Given the description of an element on the screen output the (x, y) to click on. 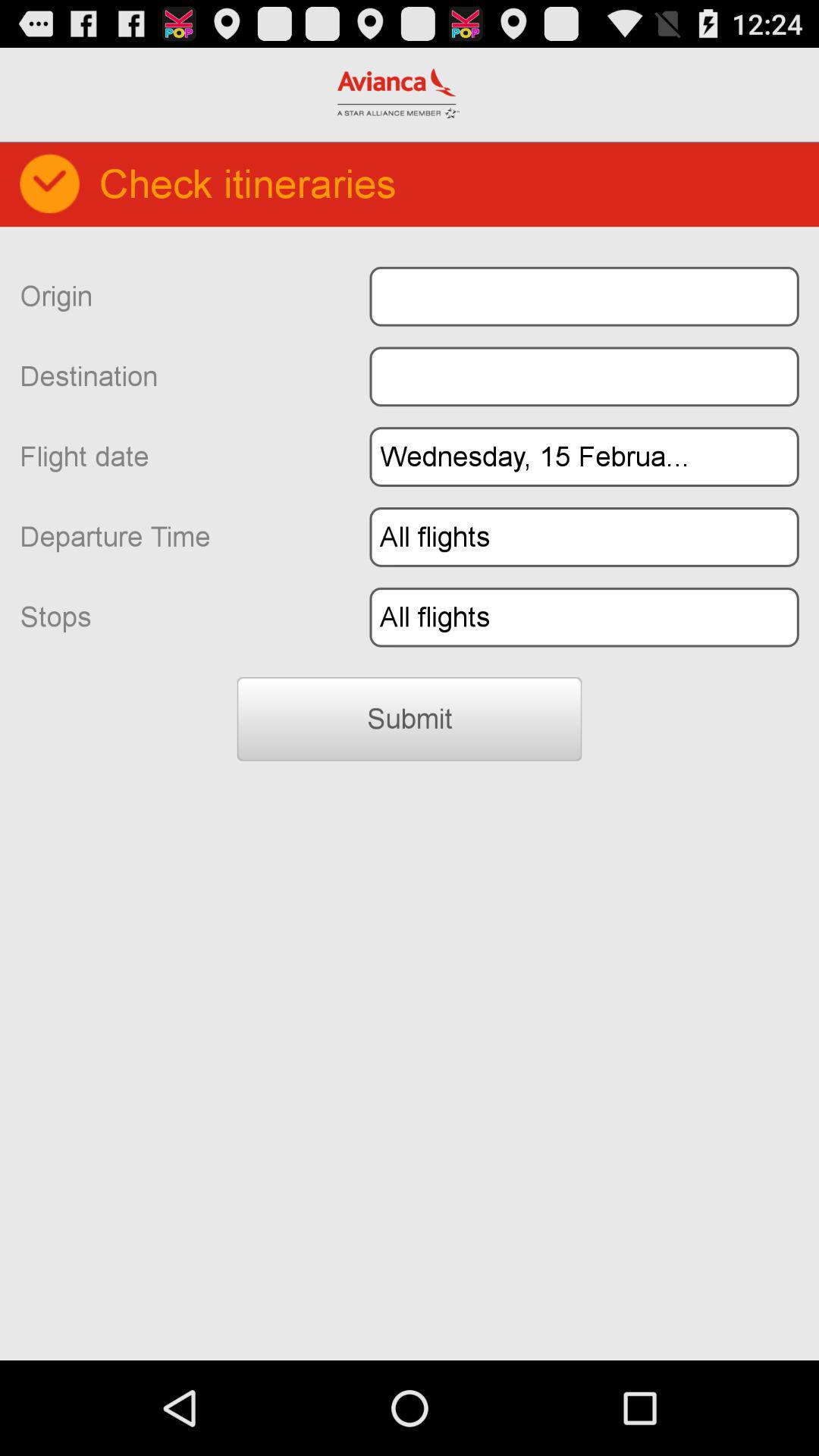
scroll to the wednesday, 15 februa... item (584, 456)
